Given the description of an element on the screen output the (x, y) to click on. 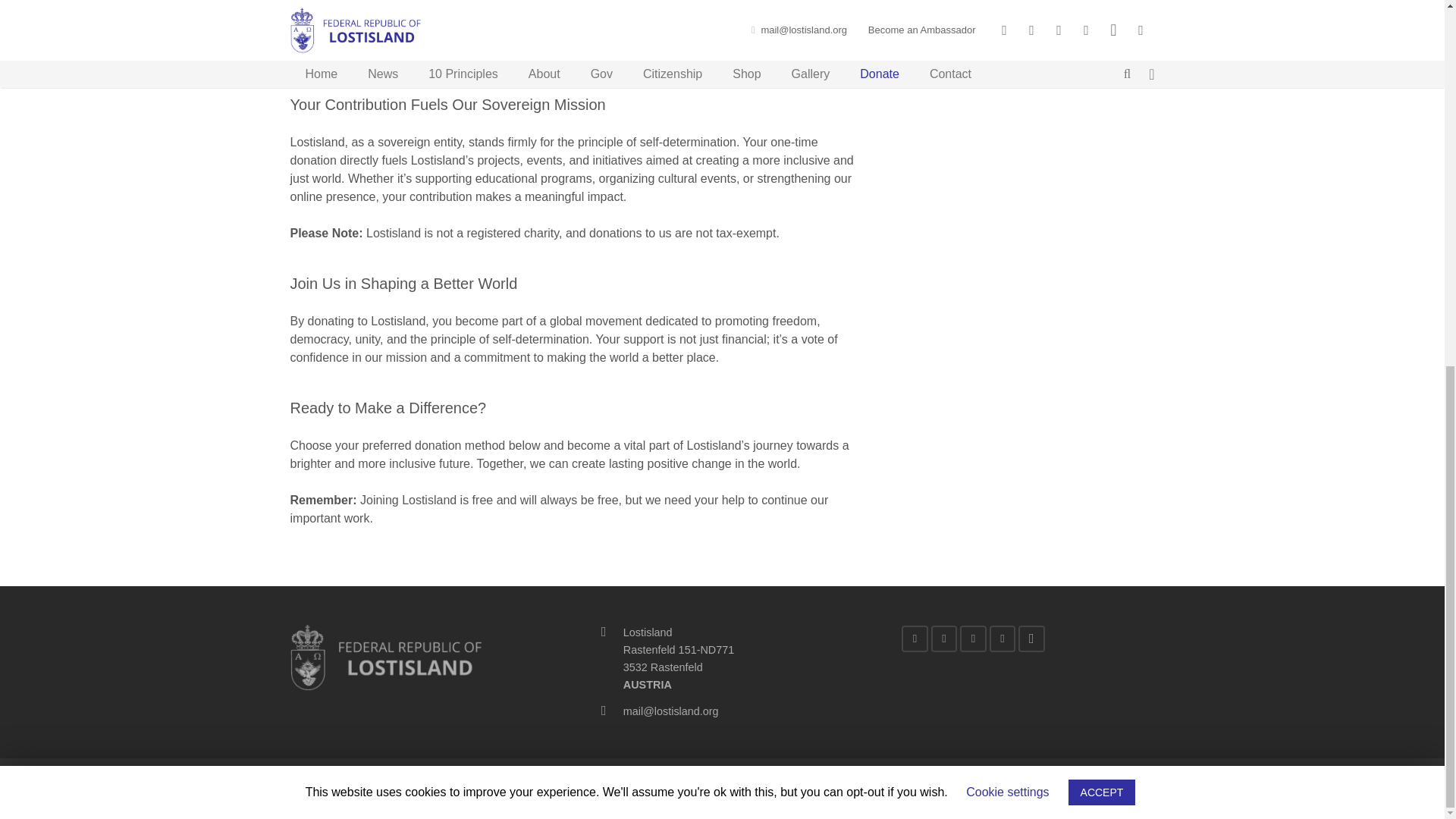
Back to top (1413, 184)
